Given the description of an element on the screen output the (x, y) to click on. 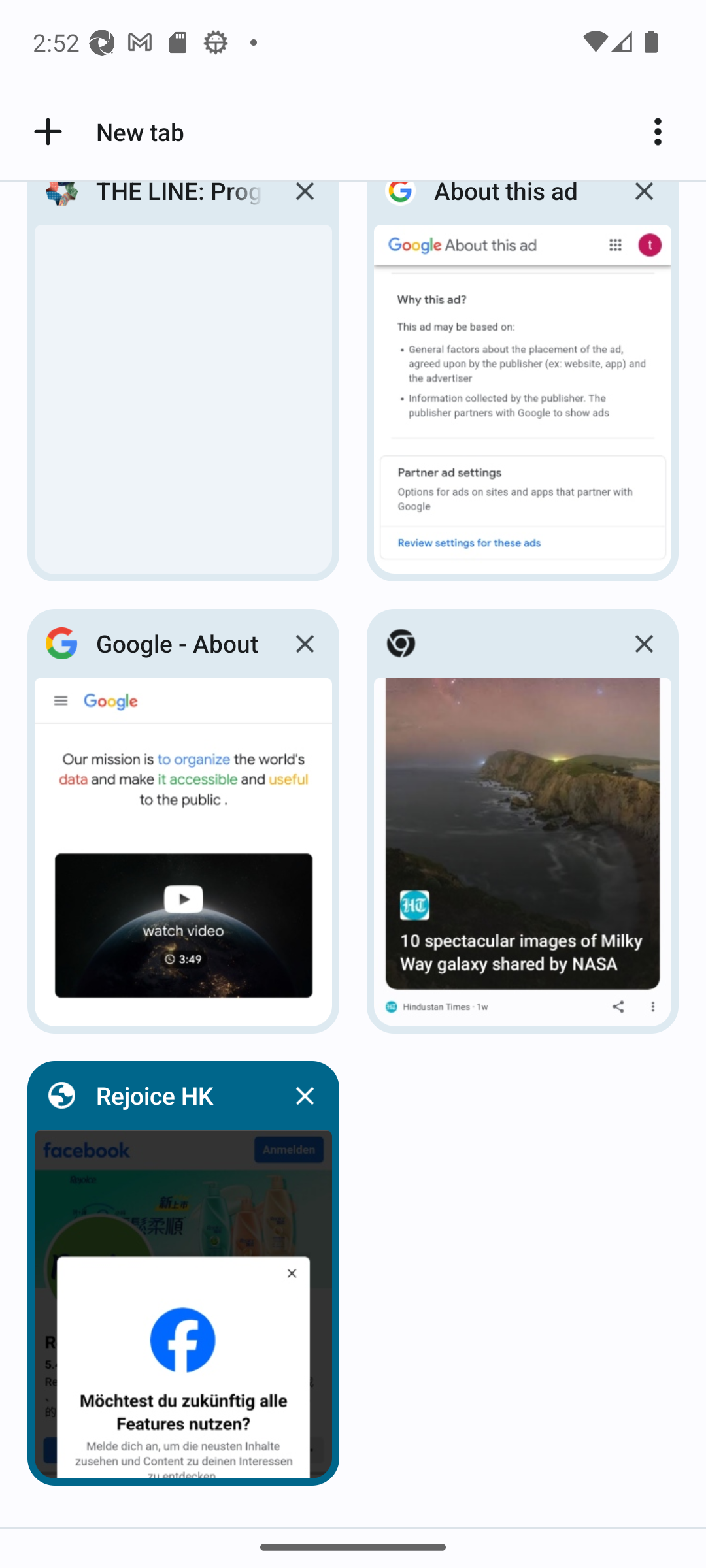
New tab (105, 131)
More options (664, 131)
Close About this ad tab (643, 206)
, tab Close  tab (522, 821)
Close Google - About tab (304, 643)
Close  tab (643, 643)
Rejoice HK Rejoice HK, tab Close Rejoice HK tab (183, 1273)
Close Rejoice HK tab (304, 1094)
